Given the description of an element on the screen output the (x, y) to click on. 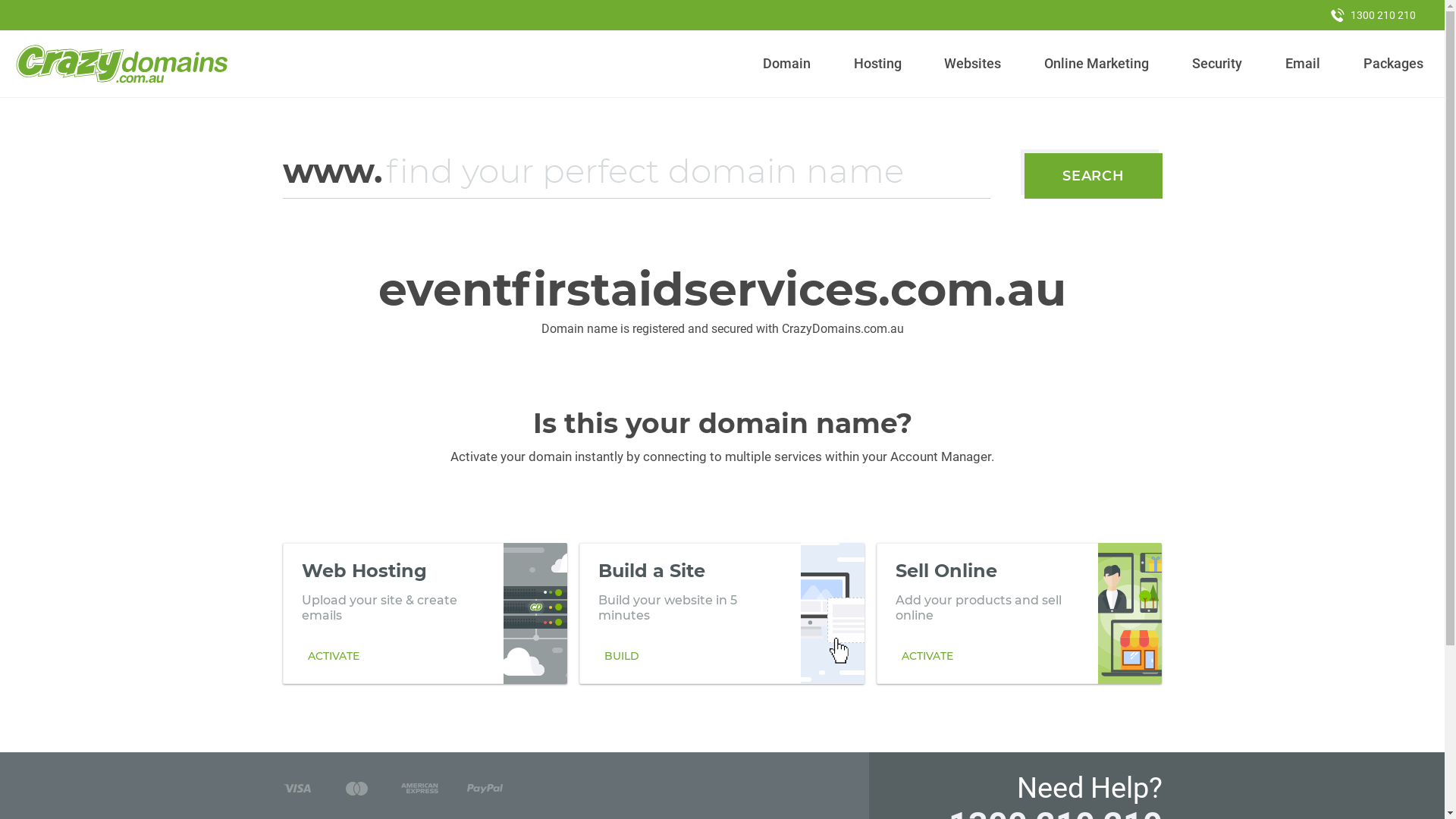
Domain Element type: text (786, 63)
Build a Site
Build your website in 5 minutes
BUILD Element type: text (721, 613)
Packages Element type: text (1392, 63)
Security Element type: text (1217, 63)
Email Element type: text (1302, 63)
Online Marketing Element type: text (1096, 63)
Websites Element type: text (972, 63)
1300 210 210 Element type: text (1373, 15)
SEARCH Element type: text (1092, 175)
Hosting Element type: text (877, 63)
Sell Online
Add your products and sell online
ACTIVATE Element type: text (1018, 613)
Web Hosting
Upload your site & create emails
ACTIVATE Element type: text (424, 613)
